Given the description of an element on the screen output the (x, y) to click on. 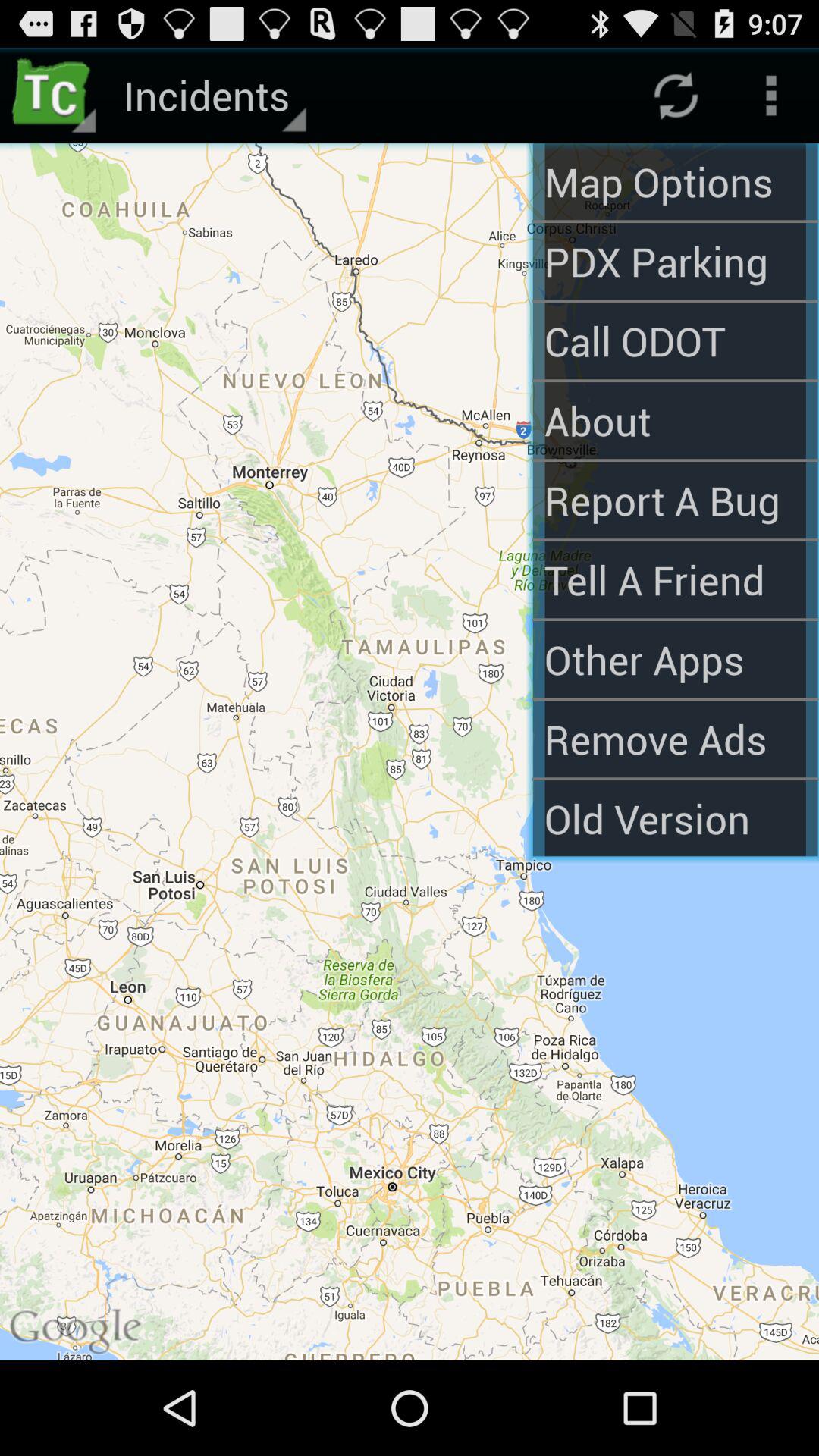
swipe until remove ads item (675, 738)
